Given the description of an element on the screen output the (x, y) to click on. 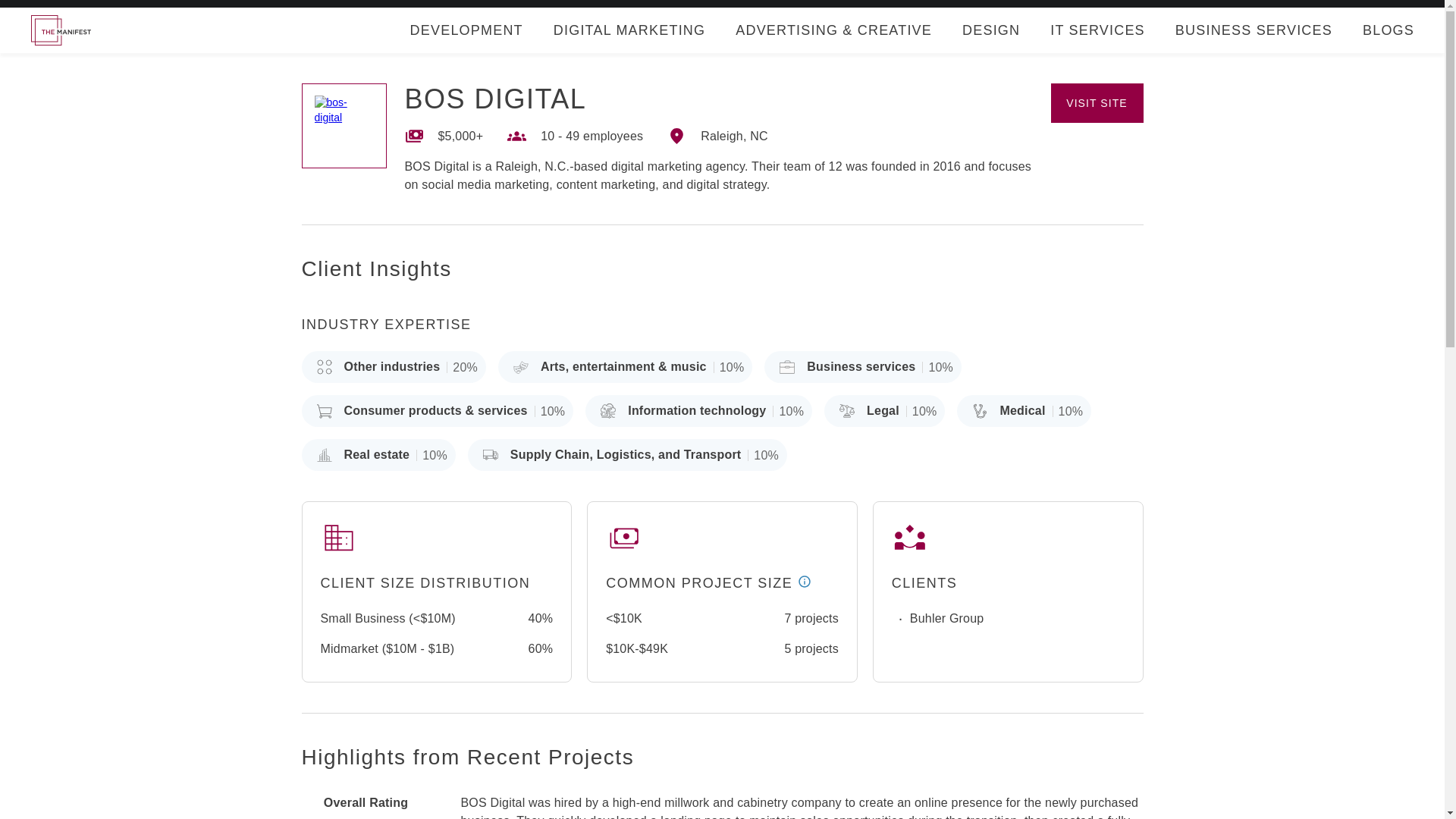
Provider Title (495, 98)
Provider Logotype (344, 125)
Visit BOS Digital website (1096, 102)
